Given the description of an element on the screen output the (x, y) to click on. 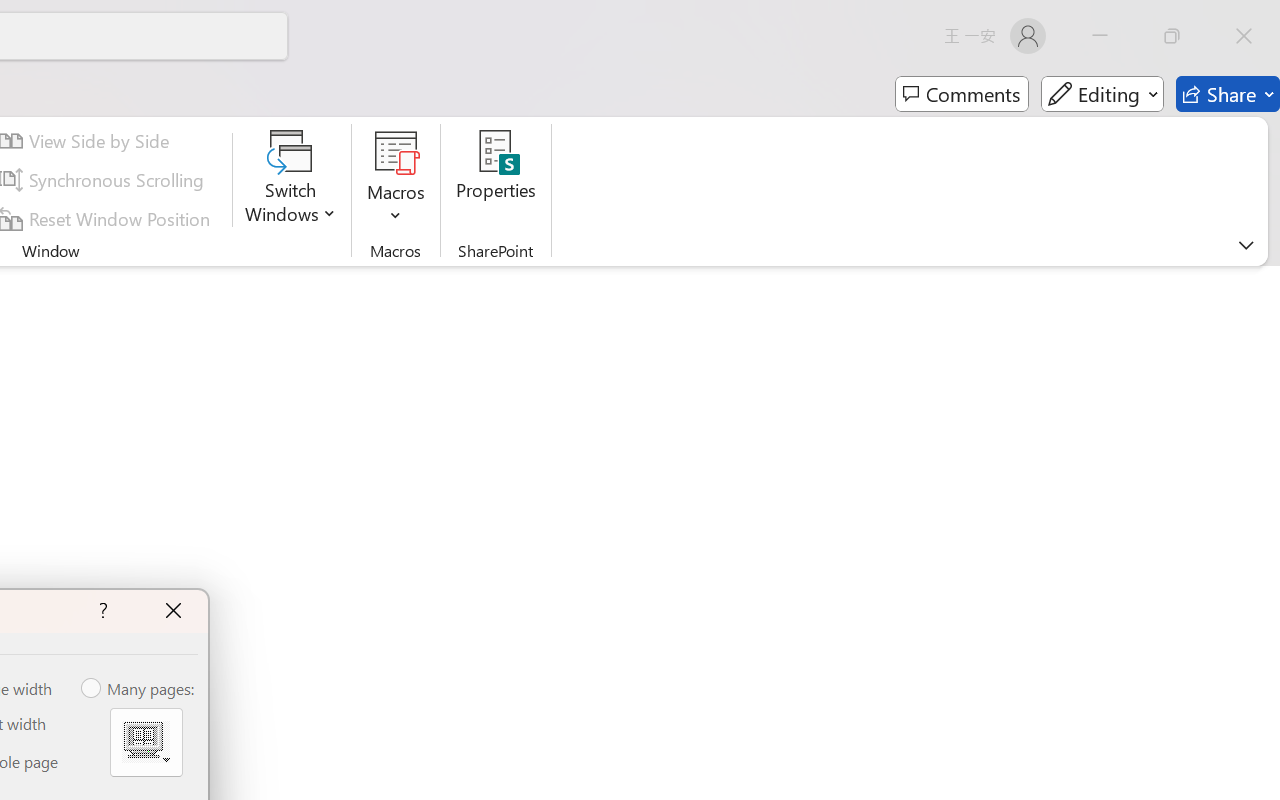
Translator (1260, 201)
New comment (967, 244)
Cancel (1192, 386)
